Given the description of an element on the screen output the (x, y) to click on. 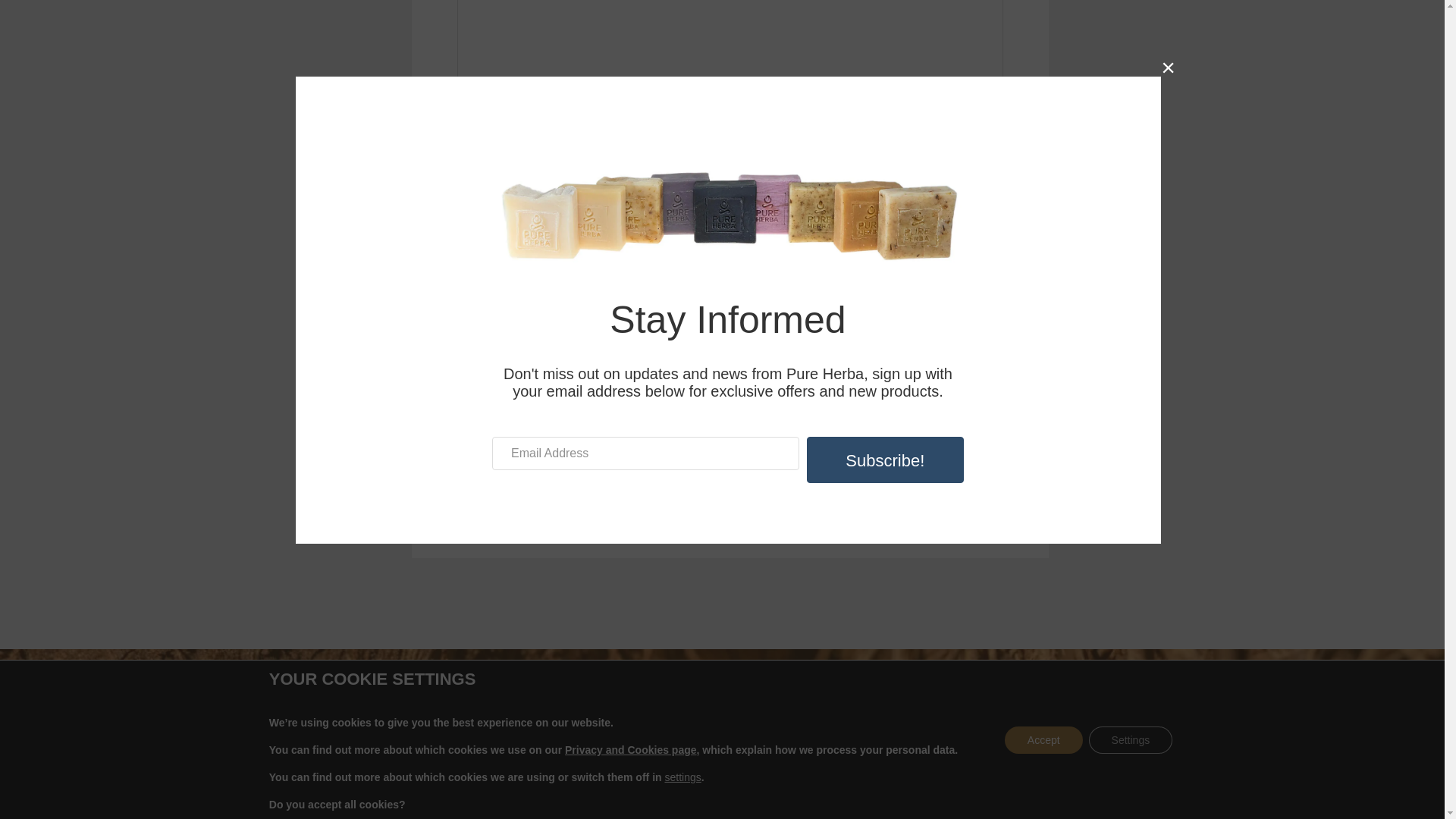
Post Comment (517, 490)
